Given the description of an element on the screen output the (x, y) to click on. 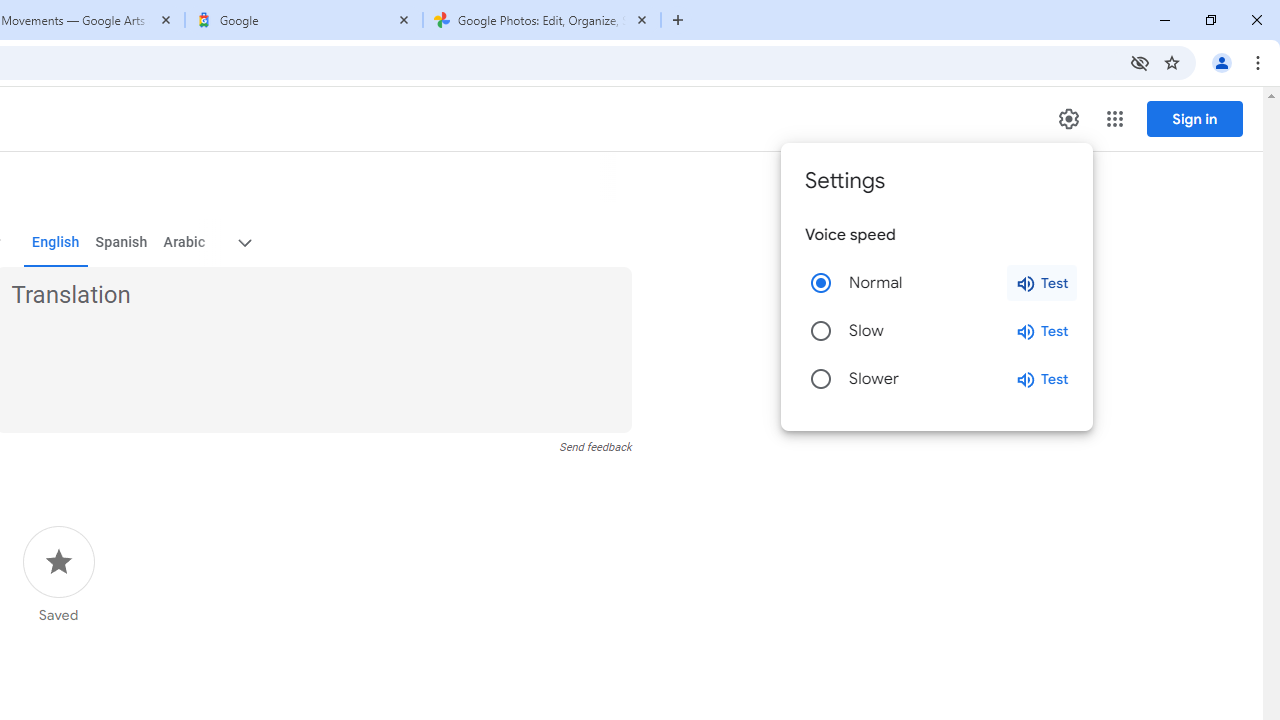
Arabic (183, 242)
Test normal speed (1041, 282)
More target languages (244, 242)
English (55, 242)
Normal (820, 282)
Google (304, 20)
Slower (820, 378)
Saved (57, 575)
